Given the description of an element on the screen output the (x, y) to click on. 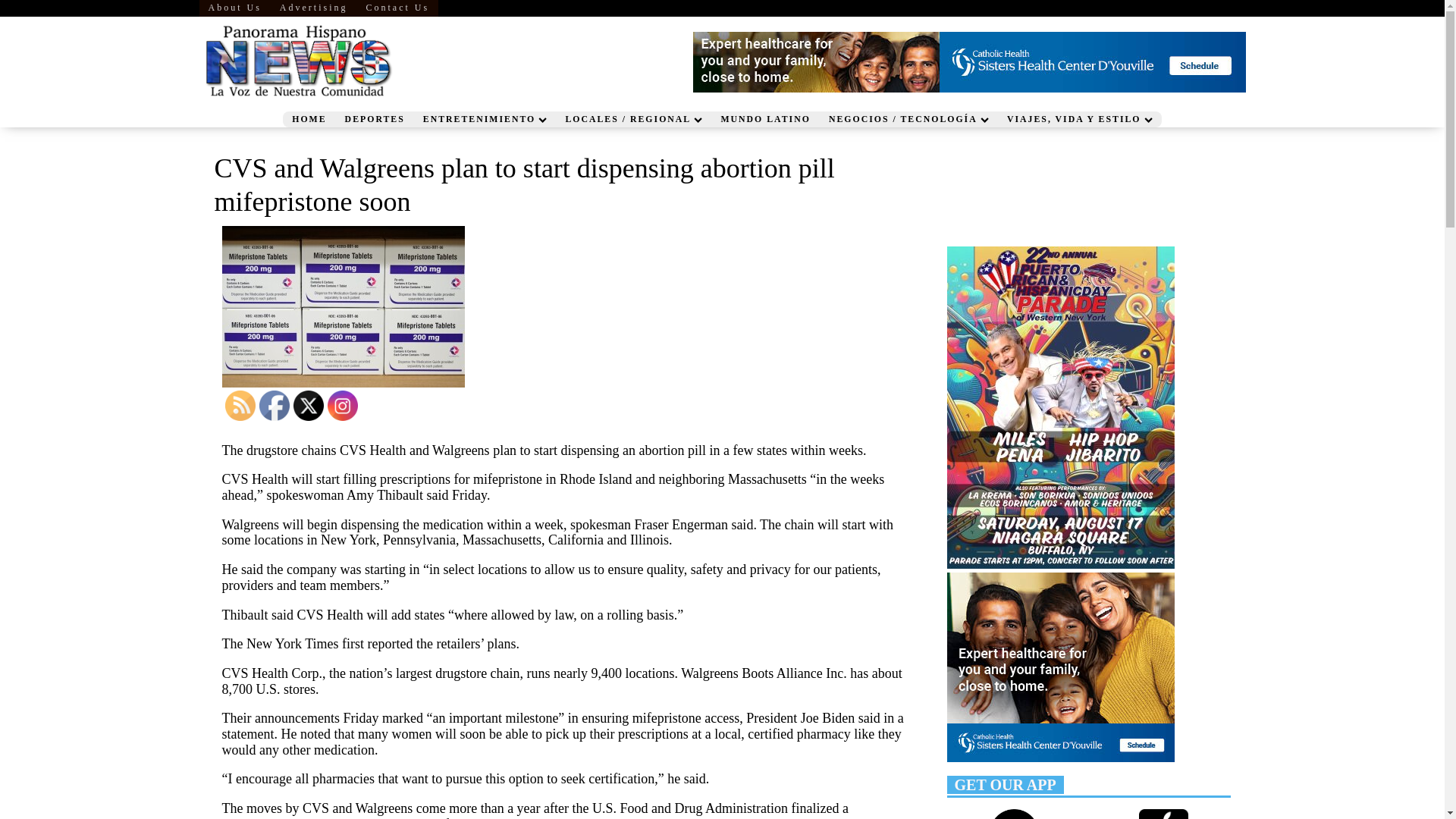
Instagram (342, 405)
ENTRETENIMIENTO (484, 119)
MUNDO LATINO (764, 119)
DEPORTES (374, 119)
VIAJES, VIDA Y ESTILO (1079, 119)
RSS (239, 405)
Contact Us (397, 8)
Facebook (274, 405)
Twitter (307, 405)
Advertising (313, 8)
